Given the description of an element on the screen output the (x, y) to click on. 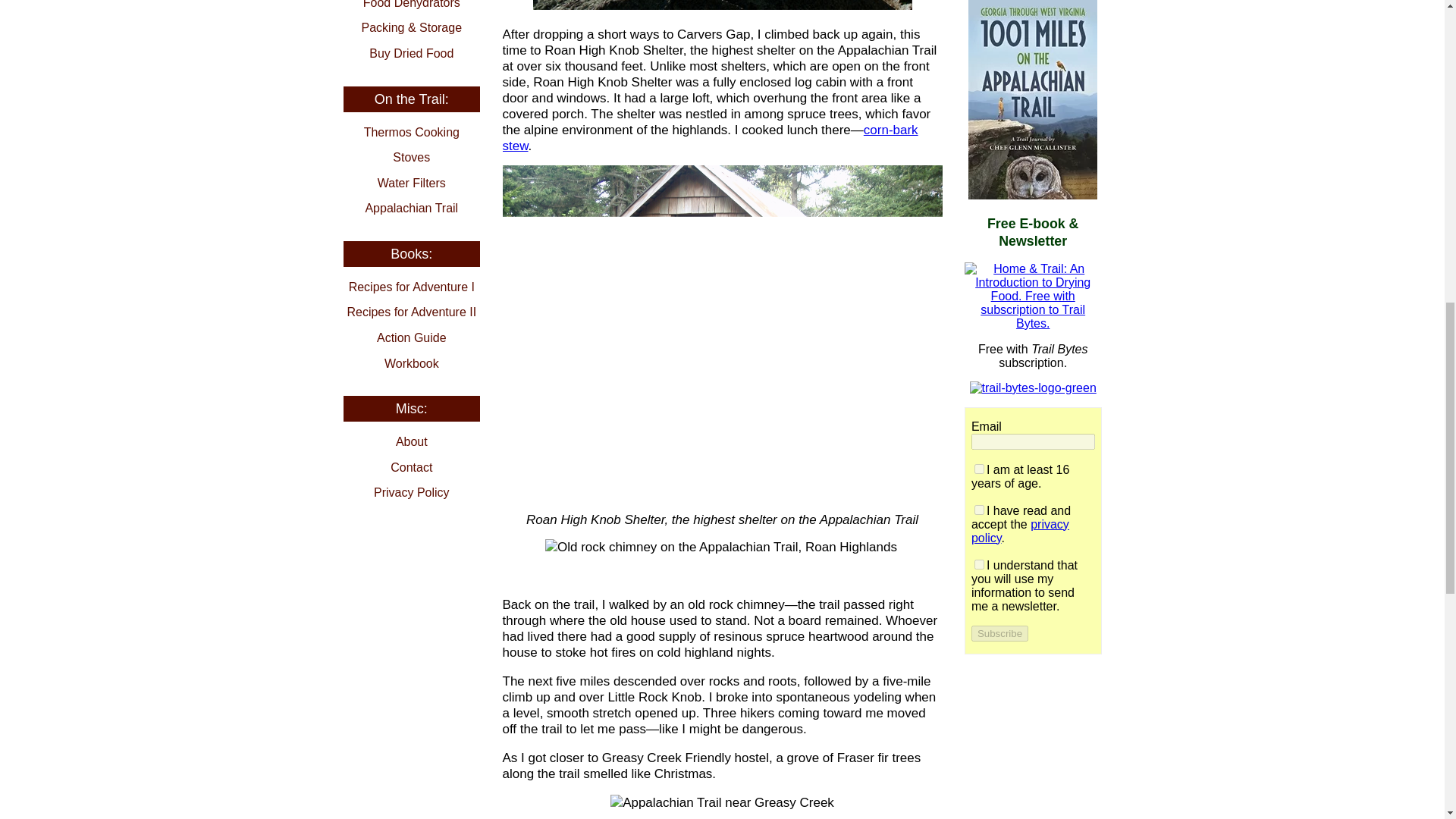
View from the Appalachian Trail, Roan Highlands (721, 4)
Old rock chimney on the Appalachian Trail, Roan Highlands (721, 546)
on (979, 564)
Appalachian Trail near Greasy Creek (722, 802)
on (979, 469)
on (979, 510)
